Given the description of an element on the screen output the (x, y) to click on. 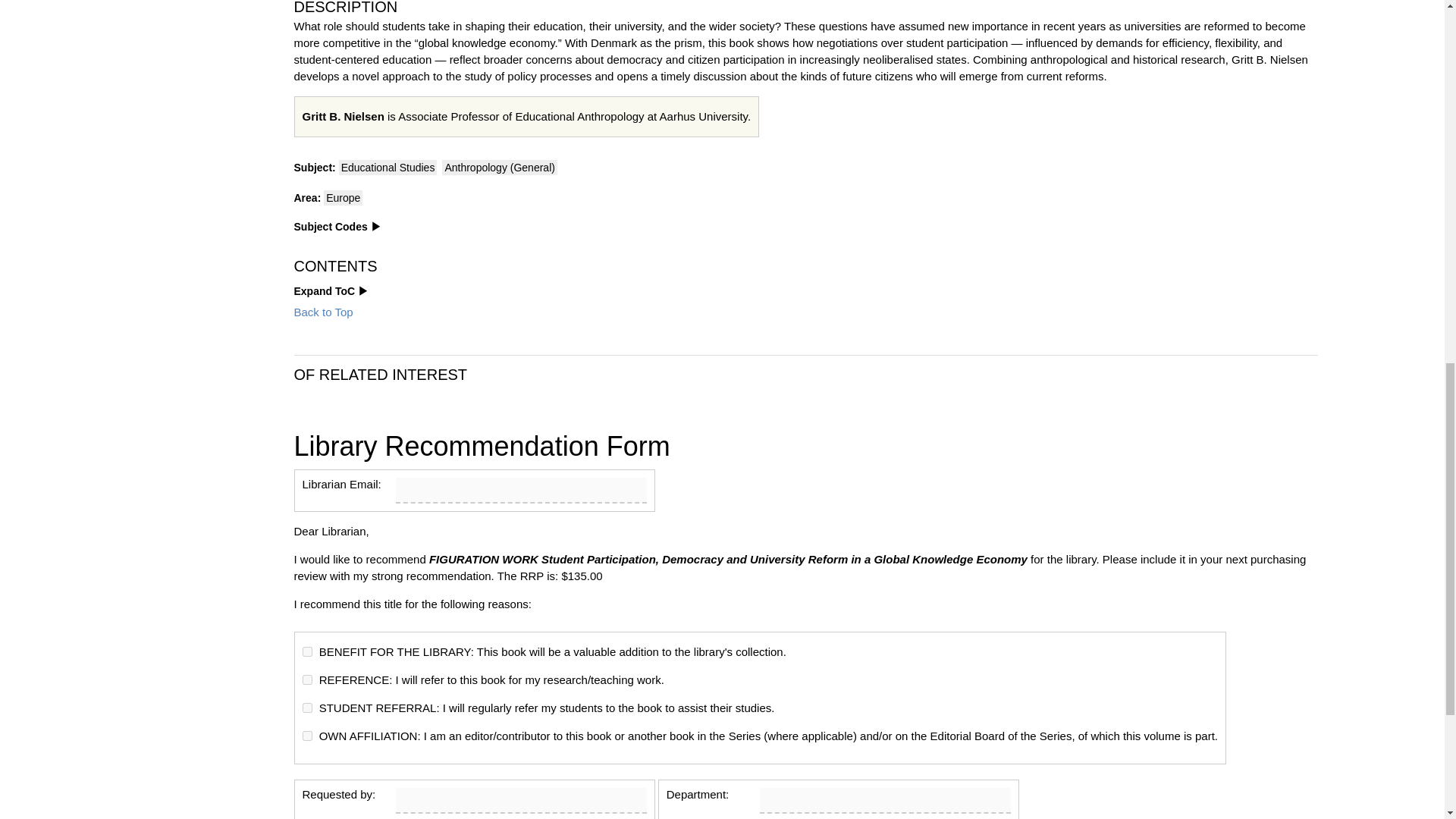
on (306, 736)
on (306, 651)
on (306, 679)
on (306, 707)
